Given the description of an element on the screen output the (x, y) to click on. 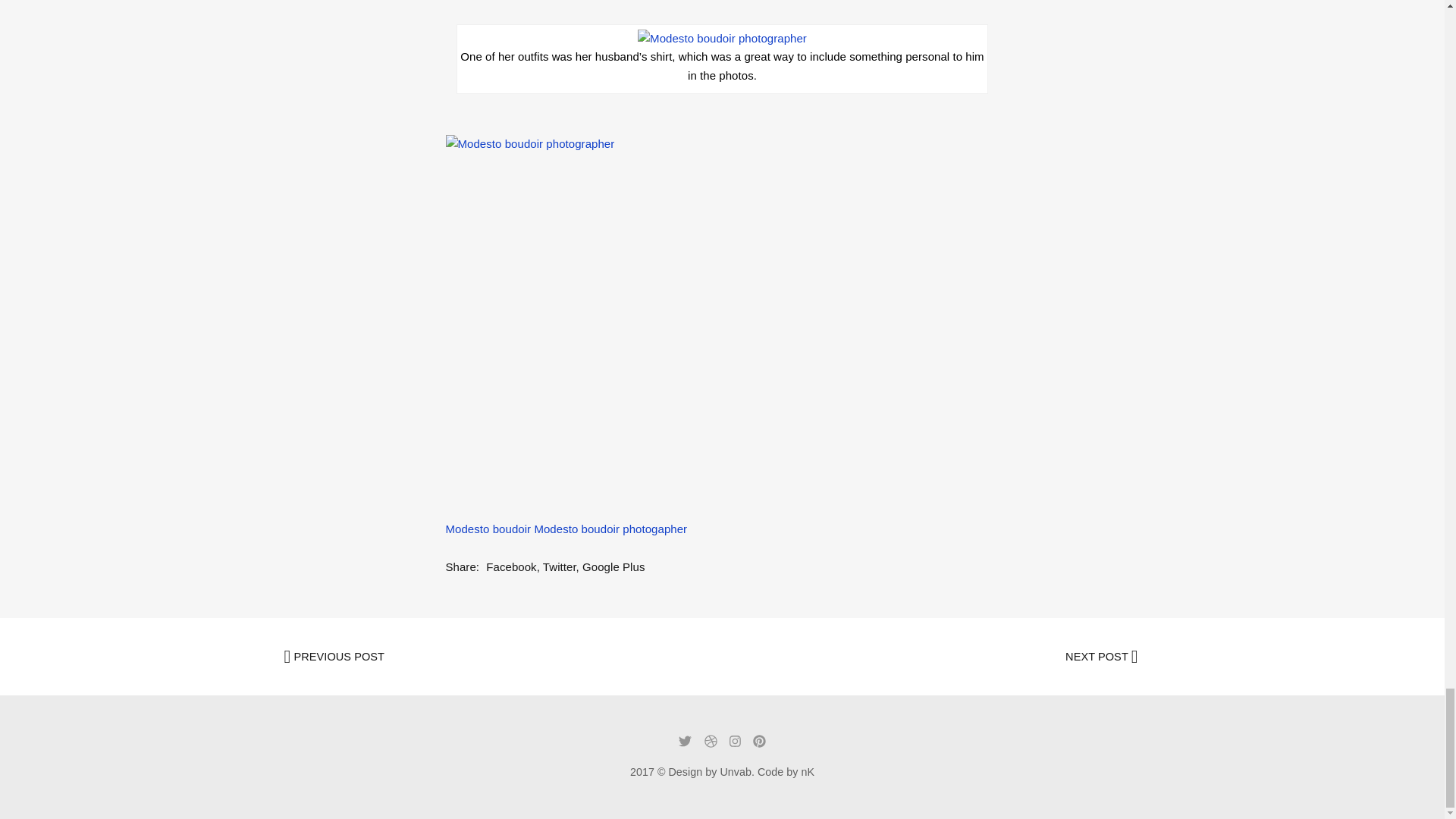
PREVIOUS POST (499, 656)
Modesto boudoir photogapher (610, 528)
Facebook (510, 566)
Modesto boudoir (488, 528)
Share page on Twitter (559, 566)
NEXT POST (921, 656)
Twitter (559, 566)
Share page on Facebook (510, 566)
Share page on Google Plus (613, 566)
Google Plus (613, 566)
